Given the description of an element on the screen output the (x, y) to click on. 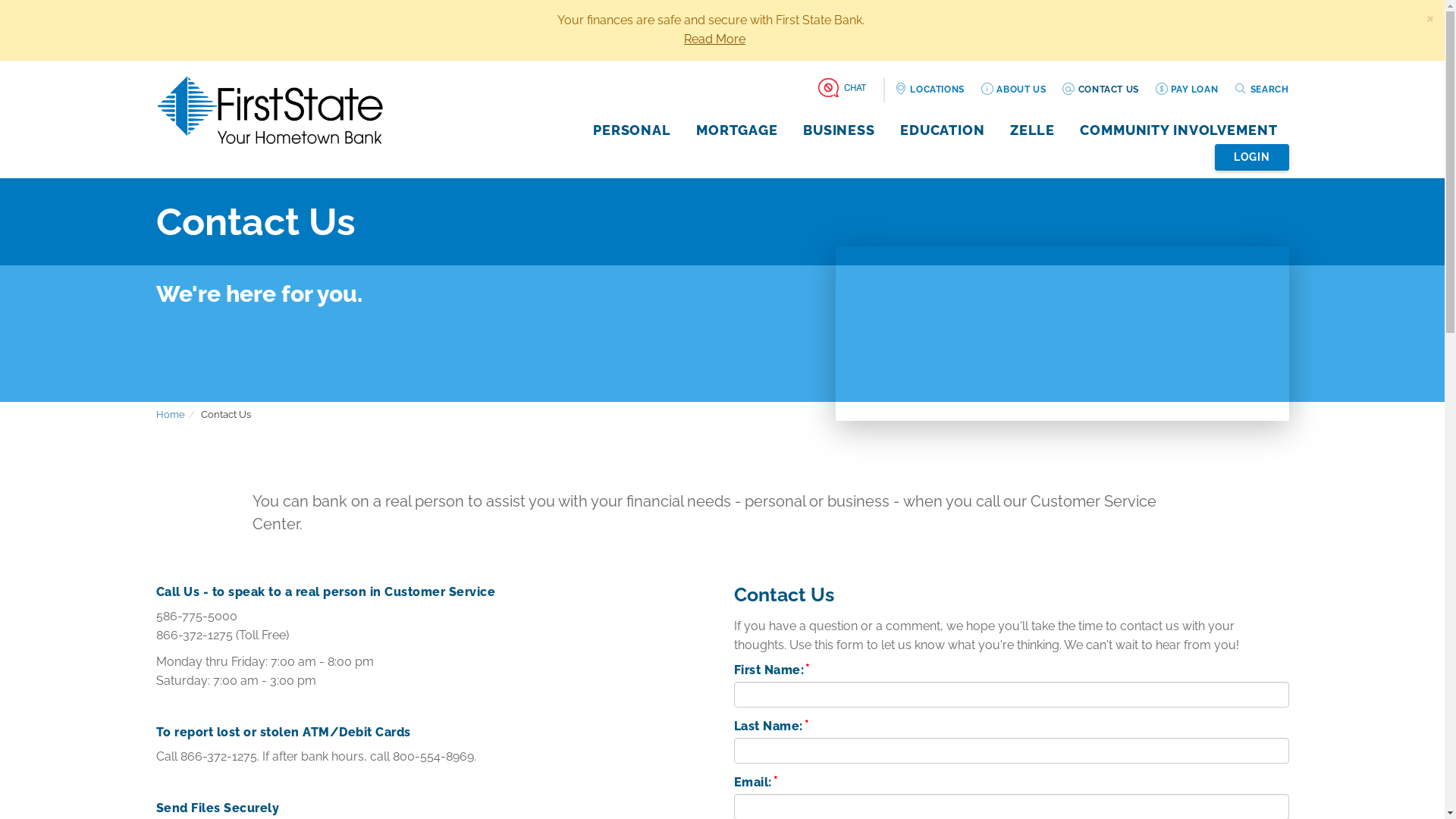
LOCATIONS Element type: text (929, 89)
BUSINESS Element type: text (839, 130)
Home Element type: text (170, 414)
LOGIN Element type: text (1251, 157)
CONTACT US Element type: text (1100, 89)
ZELLE Element type: text (1032, 130)
Read More Element type: text (714, 38)
SEARCH Element type: text (1260, 89)
COMMUNITY INVOLVEMENT Element type: text (1178, 130)
EDUCATION Element type: text (942, 130)
MORTGAGE Element type: text (737, 130)
PAY LOAN Element type: text (1185, 89)
PERSONAL Element type: text (632, 130)
ABOUT US Element type: text (1012, 89)
